Given the description of an element on the screen output the (x, y) to click on. 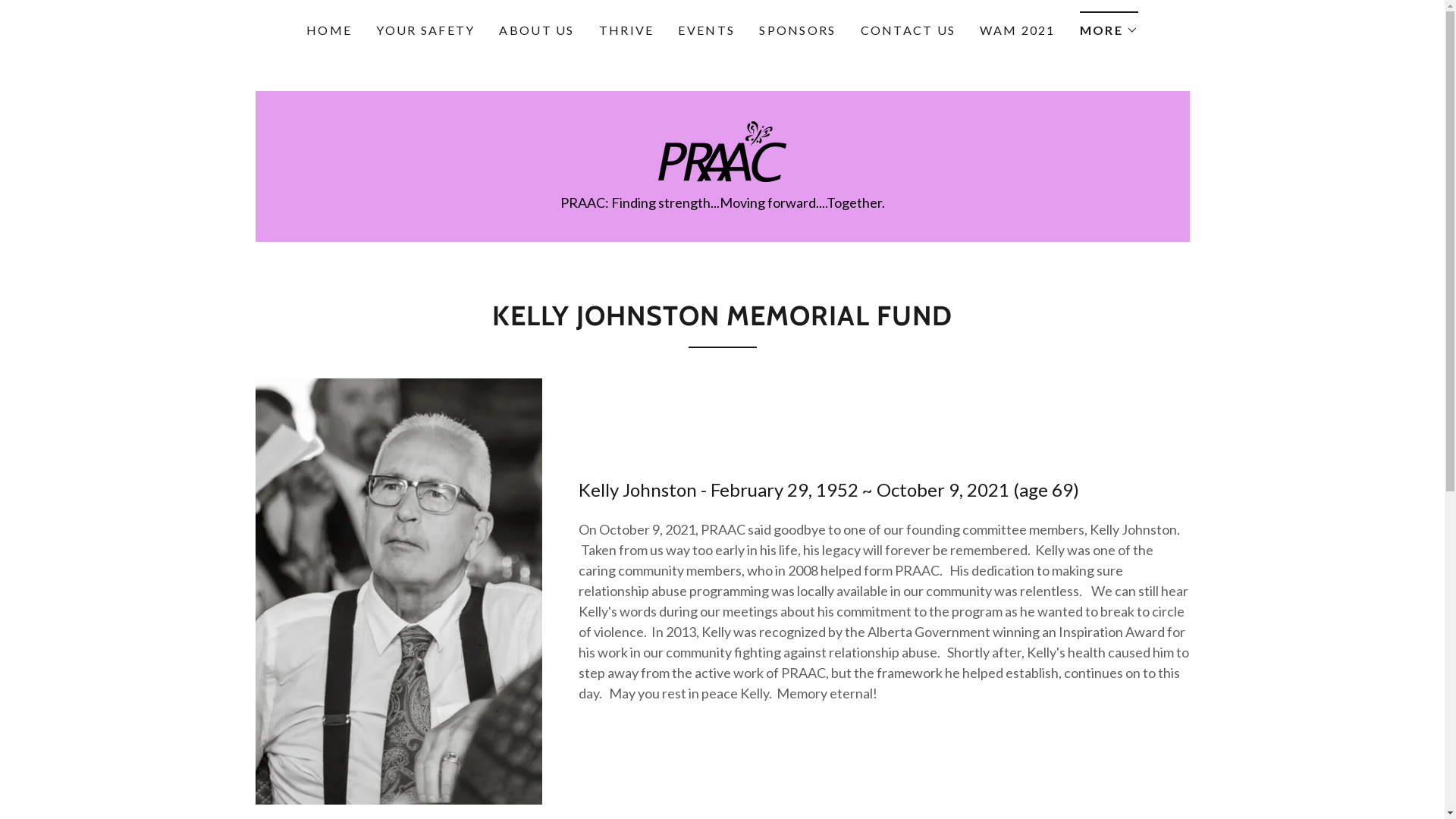
HOME Element type: text (328, 29)
EVENTS Element type: text (706, 29)
CONTACT US Element type: text (908, 29)
PRAAC  Element type: hover (722, 149)
SPONSORS Element type: text (797, 29)
YOUR SAFETY Element type: text (425, 29)
THRIVE Element type: text (626, 29)
ABOUT US Element type: text (536, 29)
WAM 2021 Element type: text (1017, 29)
MORE Element type: text (1108, 25)
